Given the description of an element on the screen output the (x, y) to click on. 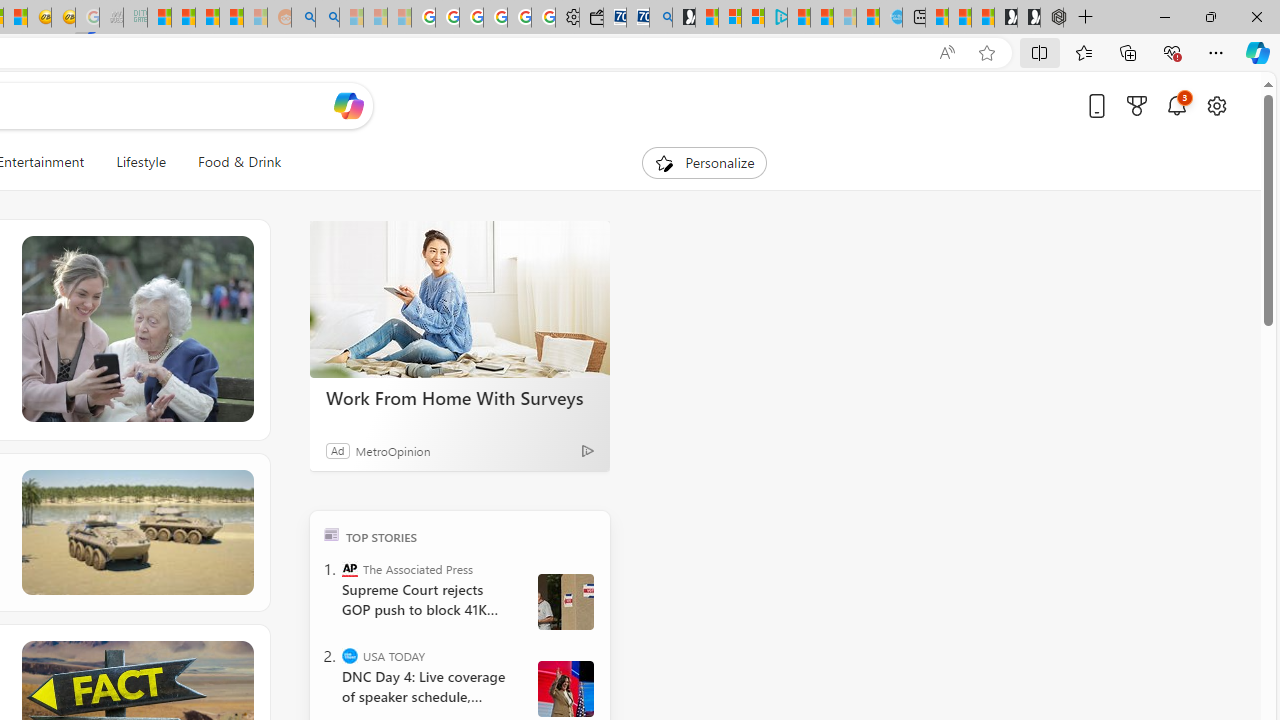
Cheap Car Rentals - Save70.com (637, 17)
